Given the description of an element on the screen output the (x, y) to click on. 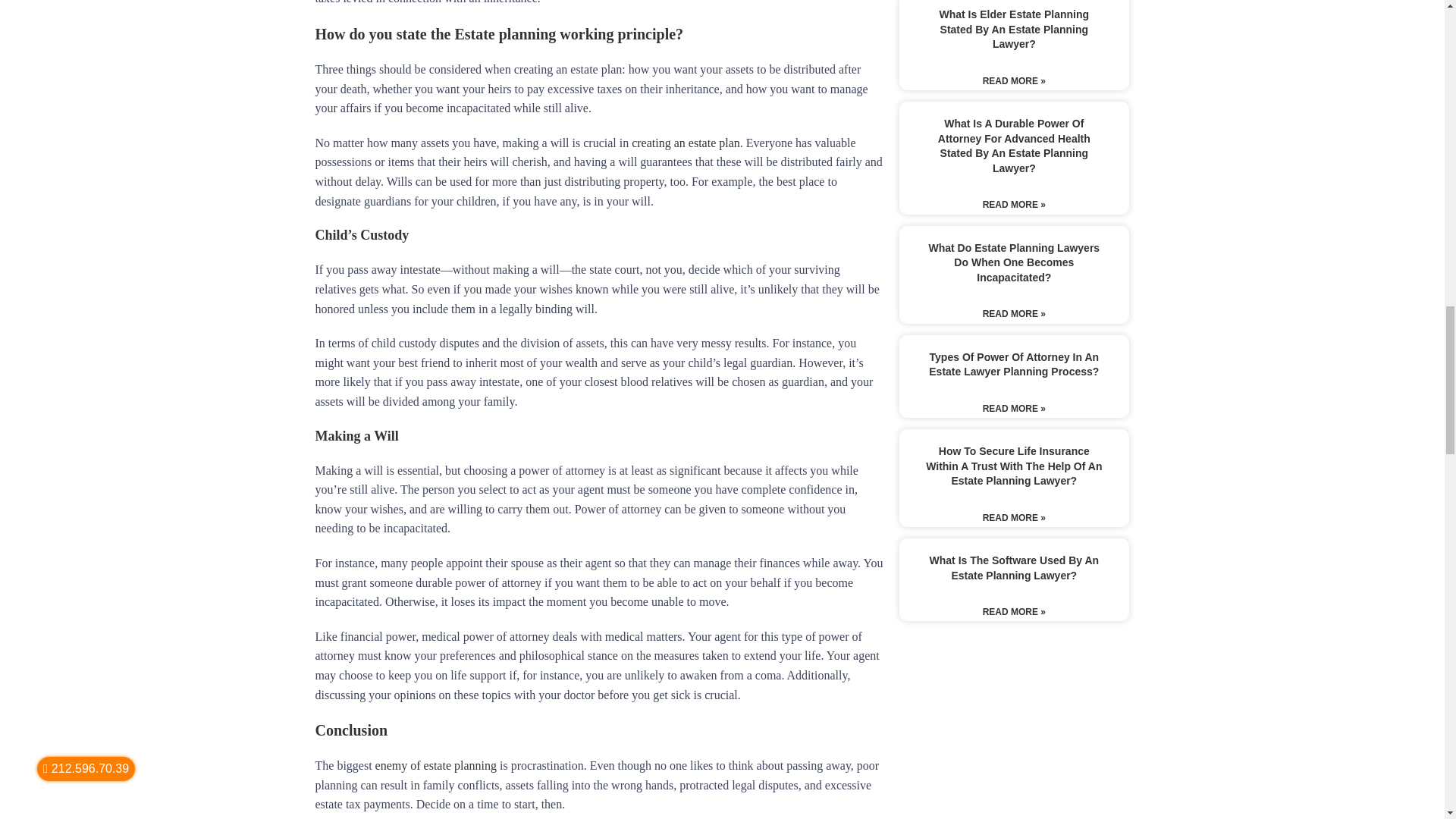
creating an estate plan (685, 142)
enemy of estate planning (435, 765)
